Given the description of an element on the screen output the (x, y) to click on. 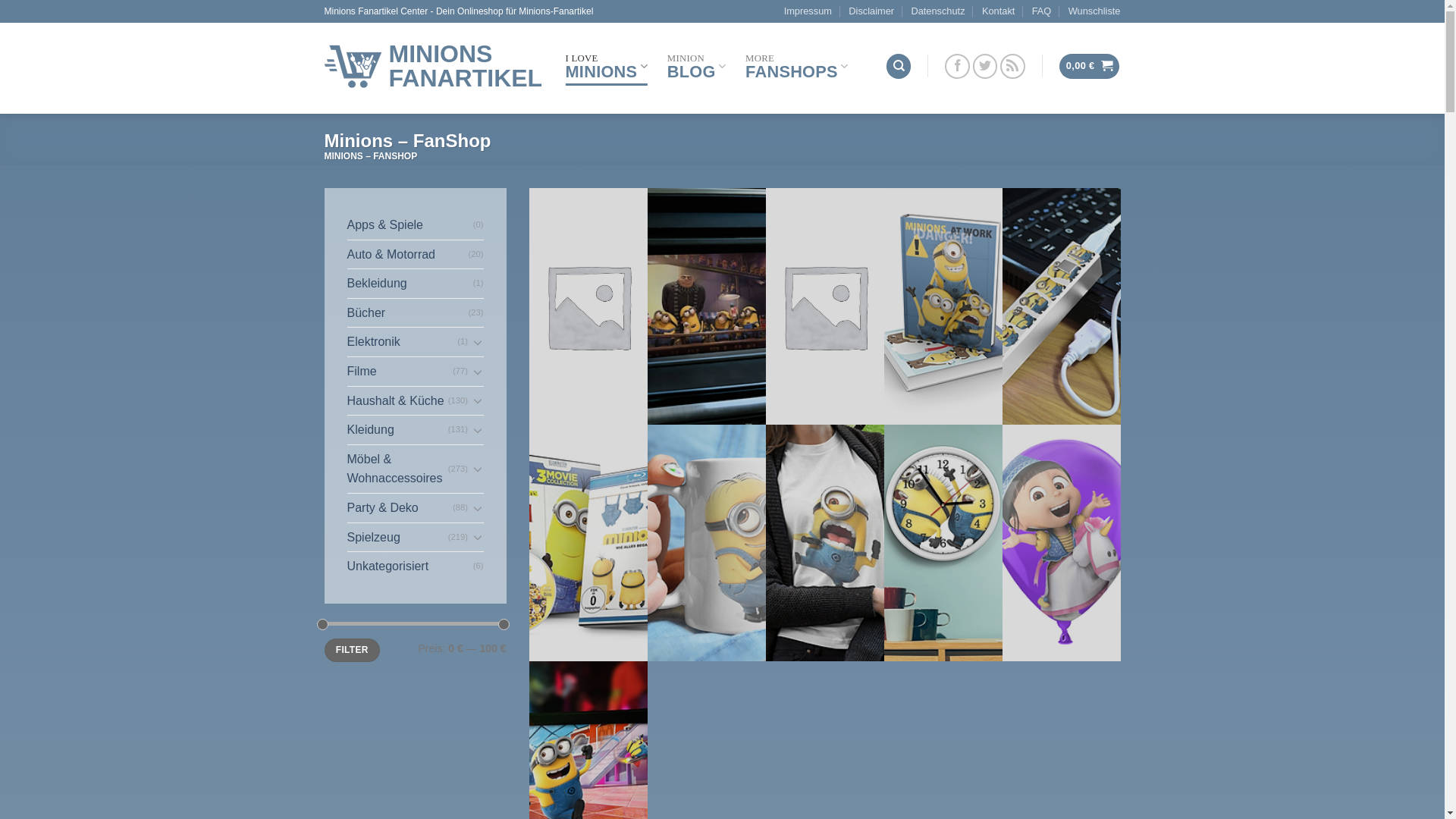
Disclaimer Element type: text (871, 11)
Apps & Spiele Element type: text (410, 224)
FAQ Element type: text (1041, 11)
Filme Element type: text (400, 371)
I LOVE
MINIONS Element type: text (606, 65)
Unkategorisiert Element type: text (410, 566)
Auto & Motorrad Element type: text (407, 254)
Elektronik Element type: text (402, 341)
FILTER Element type: text (351, 650)
MORE
FANSHOPS Element type: text (796, 65)
Datenschutz Element type: text (937, 11)
Kleidung Element type: text (397, 429)
Wunschliste Element type: text (1094, 11)
Party & Deko Element type: text (400, 507)
Bekleidung Element type: text (410, 283)
MINION
BLOG Element type: text (696, 65)
MINIONS FANARTIKEL Element type: text (433, 65)
Kontakt Element type: text (998, 11)
Impressum Element type: text (807, 11)
Spielzeug Element type: text (397, 537)
